Given the description of an element on the screen output the (x, y) to click on. 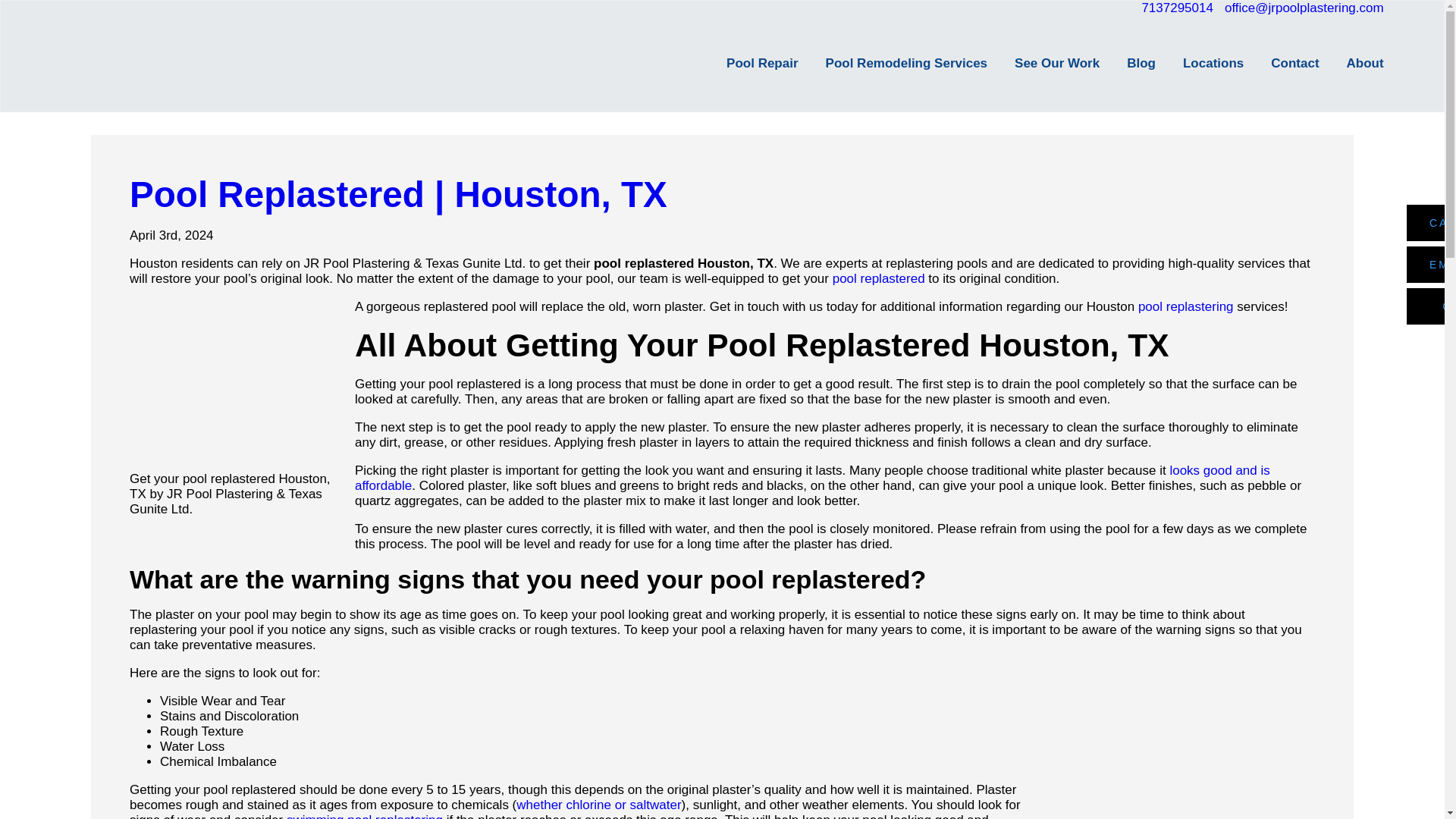
pool replastering (1185, 306)
whether chlorine or saltwater (598, 804)
pool replastered (878, 278)
Pool Repair (747, 63)
looks good and is affordable (812, 478)
Pool Remodeling Services (892, 63)
7137295014 (1176, 7)
See Our Work (1043, 63)
swimming pool replastering (364, 816)
Locations (1199, 63)
